Given the description of an element on the screen output the (x, y) to click on. 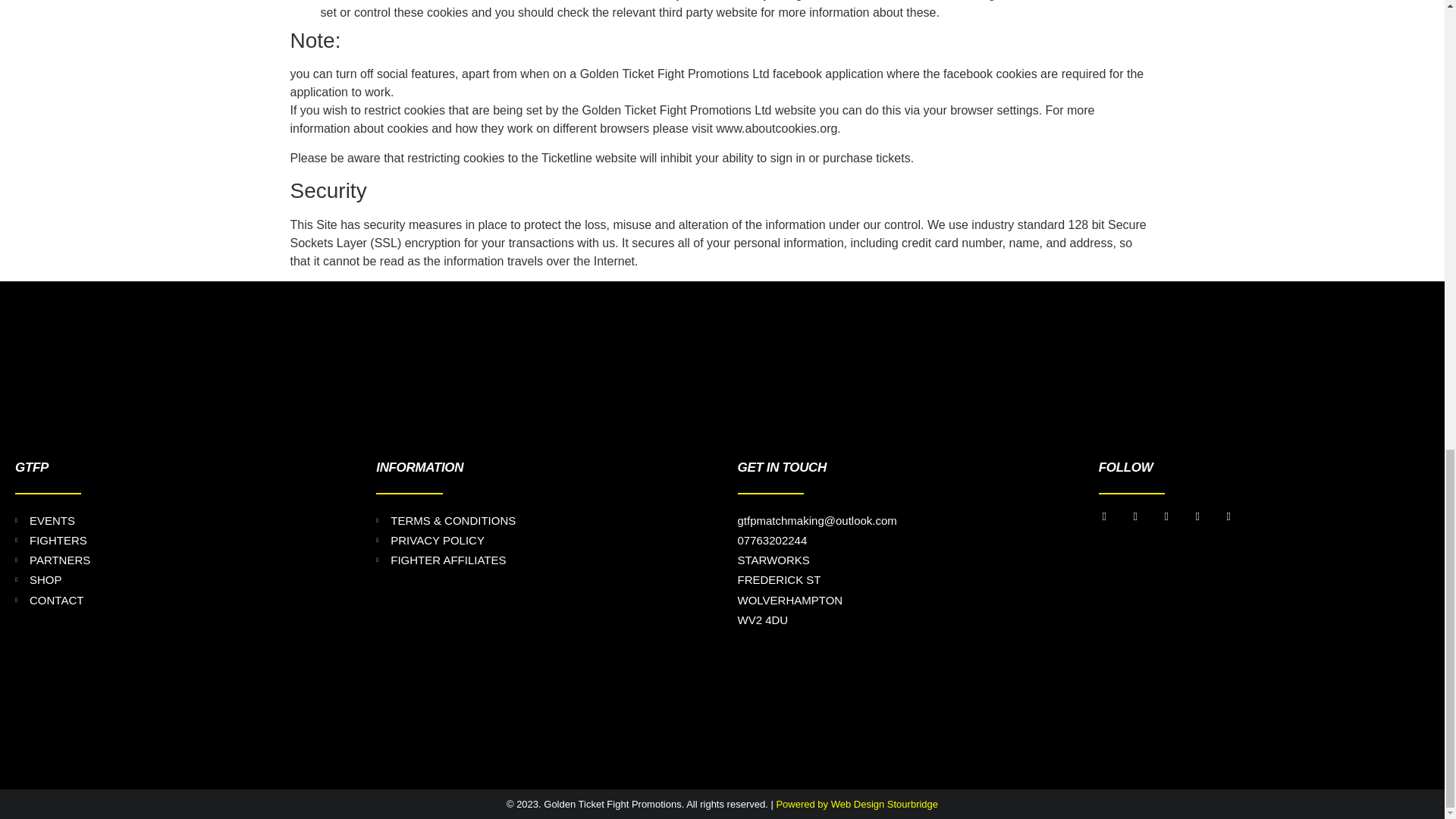
CONTACT (180, 600)
WV2 4DU (901, 619)
FIGHTER AFFILIATES (540, 560)
07763202244 (901, 540)
FREDERICK ST (901, 579)
EVENTS (180, 520)
WOLVERHAMPTON (901, 600)
Powered by Web Design Stourbridge (856, 803)
STARWORKS (901, 560)
PARTNERS (180, 560)
PRIVACY POLICY (540, 540)
FIGHTERS (180, 540)
